Given the description of an element on the screen output the (x, y) to click on. 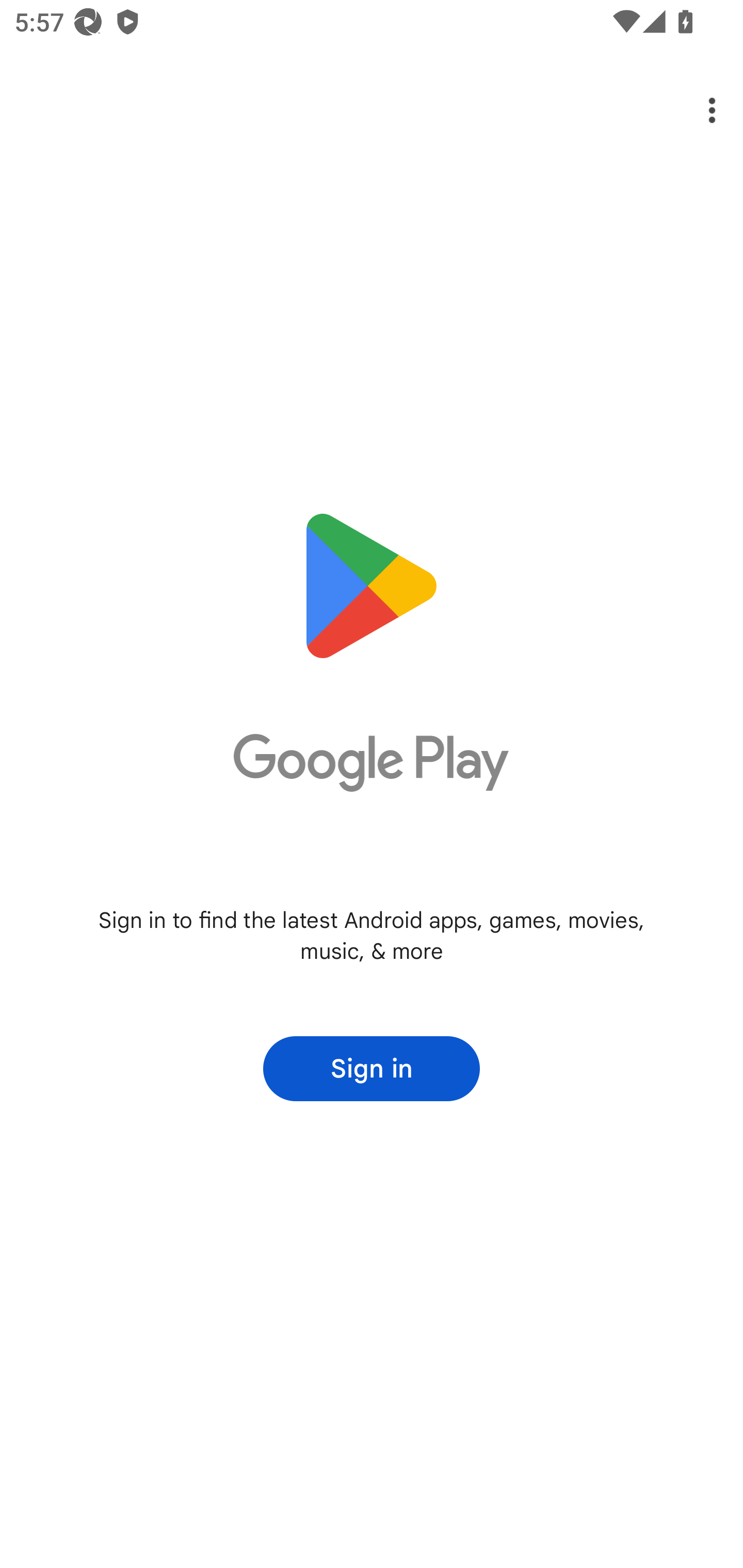
Options (697, 110)
Sign in (371, 1068)
